Given the description of an element on the screen output the (x, y) to click on. 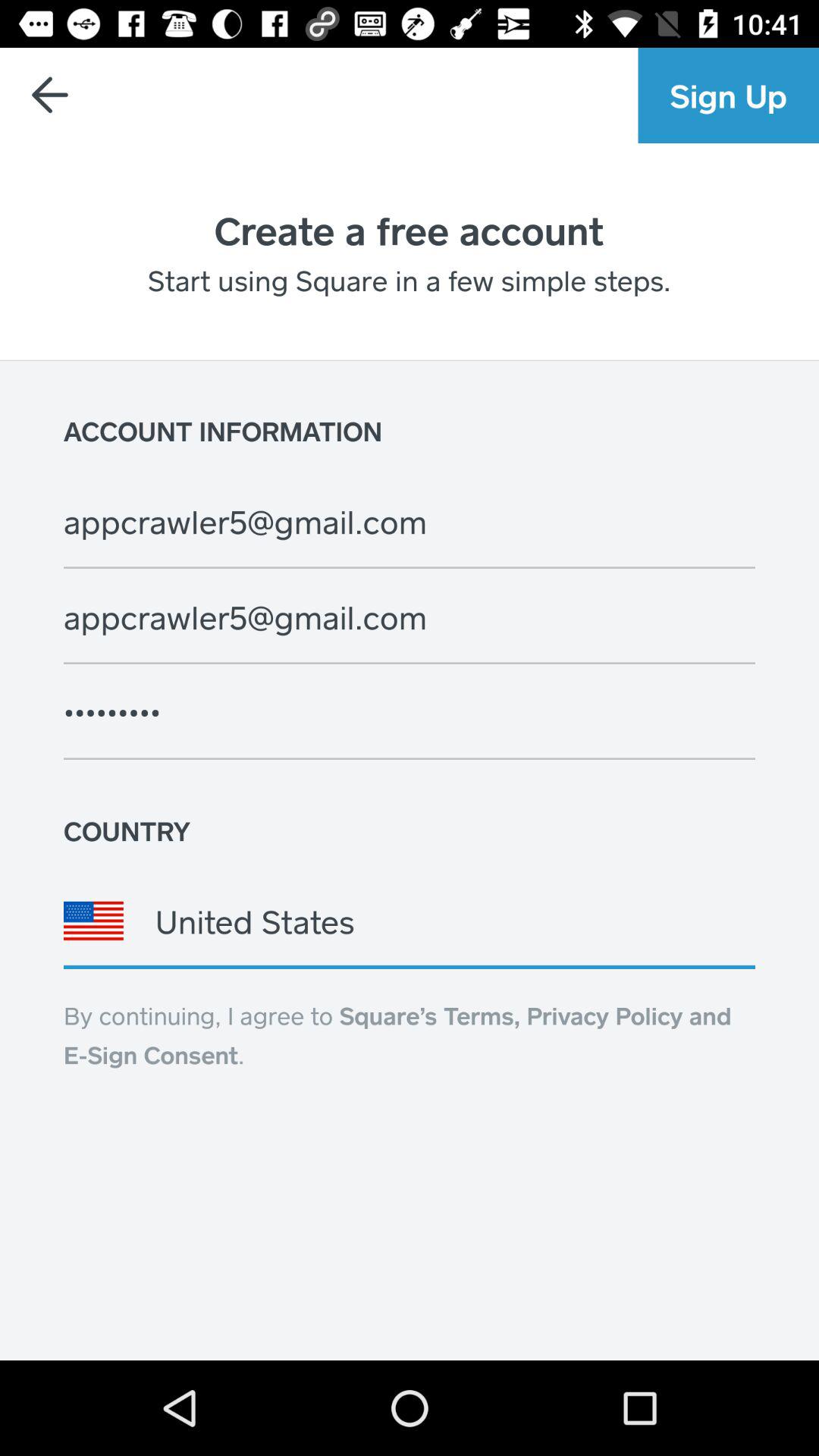
turn off by continuing i icon (397, 1035)
